Given the description of an element on the screen output the (x, y) to click on. 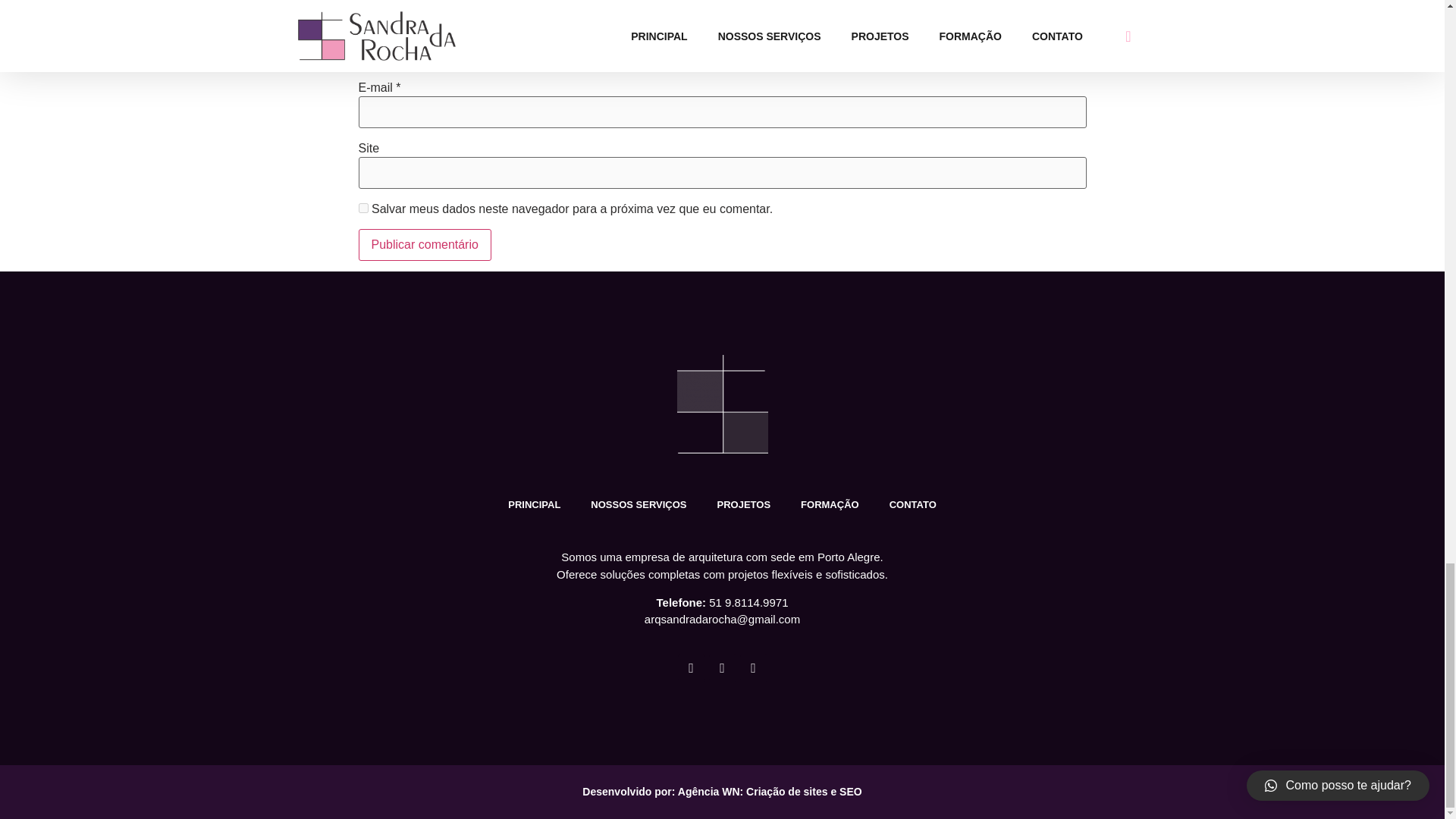
PRINCIPAL (534, 504)
PROJETOS (743, 504)
yes (363, 207)
51 9.8114.9971 (748, 602)
logo-favicon (722, 403)
SEO (850, 791)
CONTATO (913, 504)
